Given the description of an element on the screen output the (x, y) to click on. 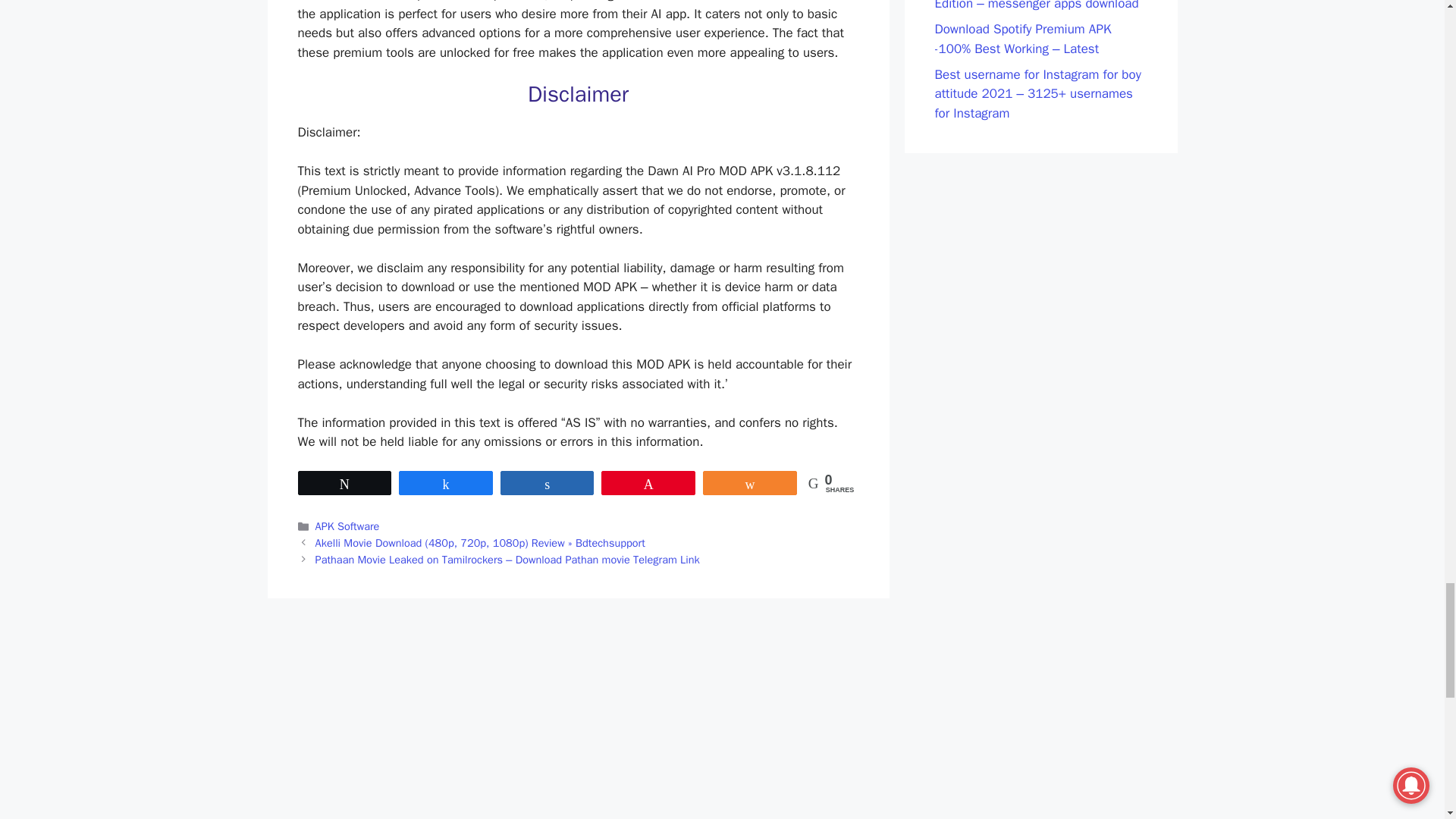
APK Software (347, 526)
